Given the description of an element on the screen output the (x, y) to click on. 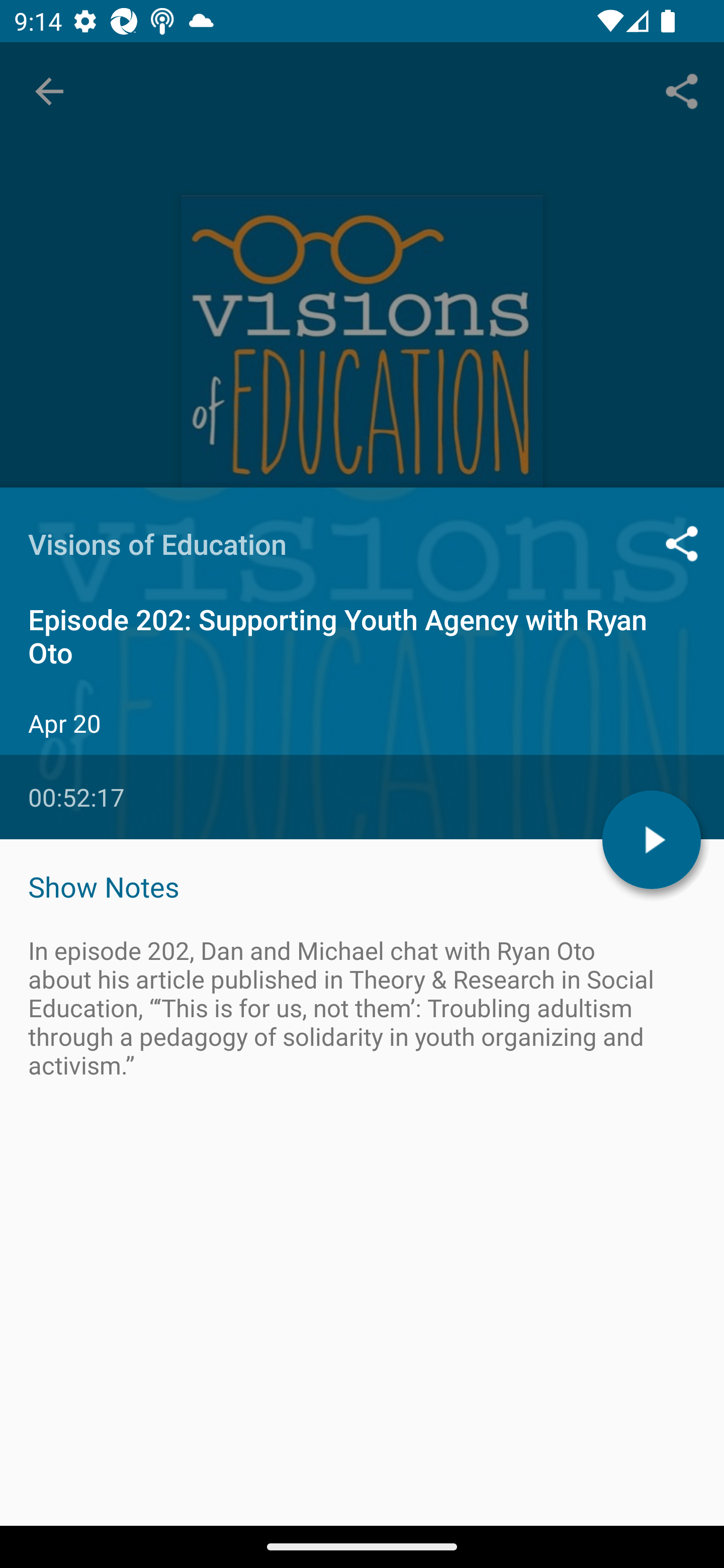
Navigate up (49, 91)
Share... (681, 90)
